Given the description of an element on the screen output the (x, y) to click on. 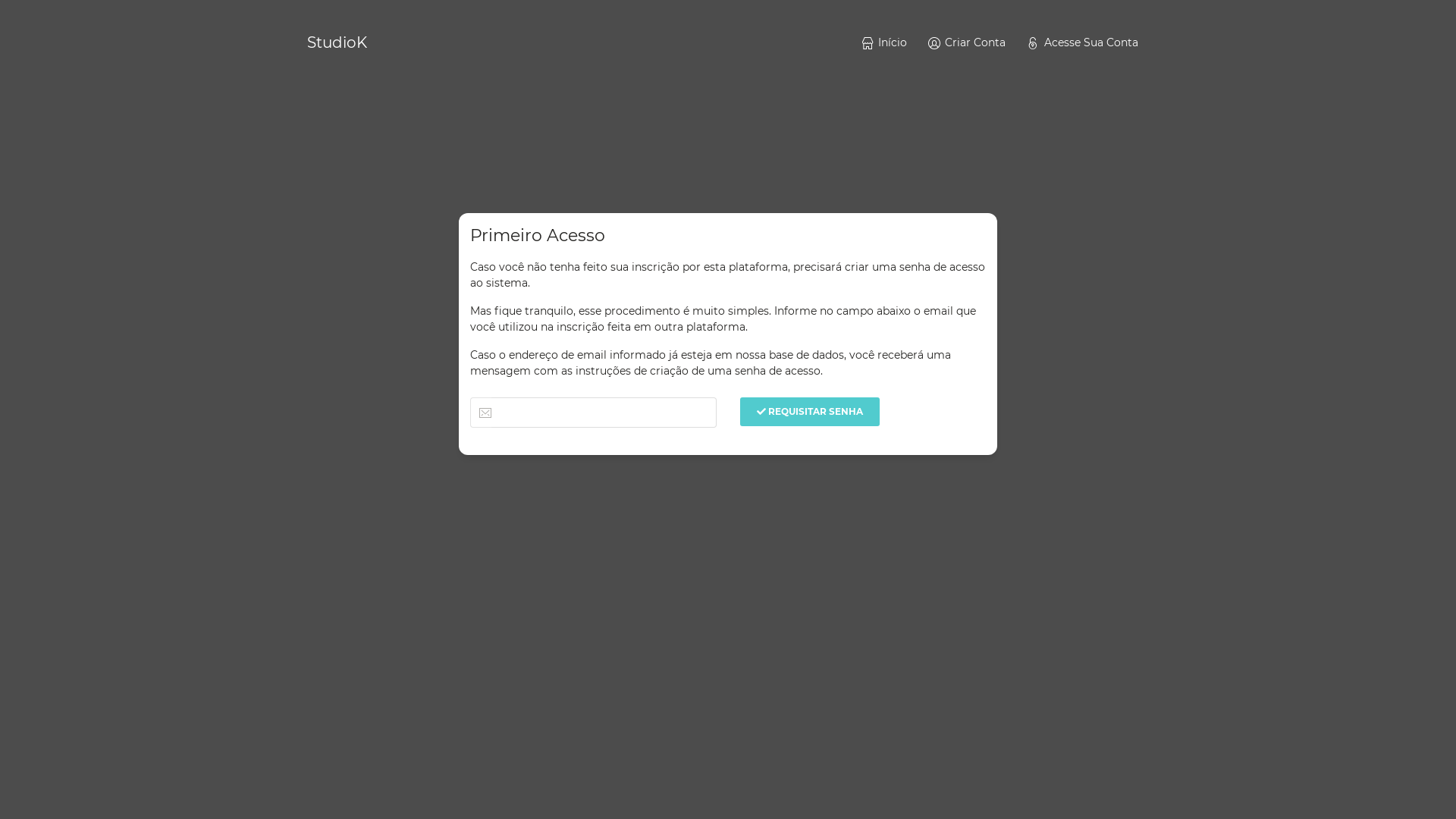
Acesse Sua Conta Element type: text (1081, 42)
Criar Conta Element type: text (965, 42)
StudioK Element type: text (337, 42)
REQUISITAR SENHA Element type: text (809, 411)
